Given the description of an element on the screen output the (x, y) to click on. 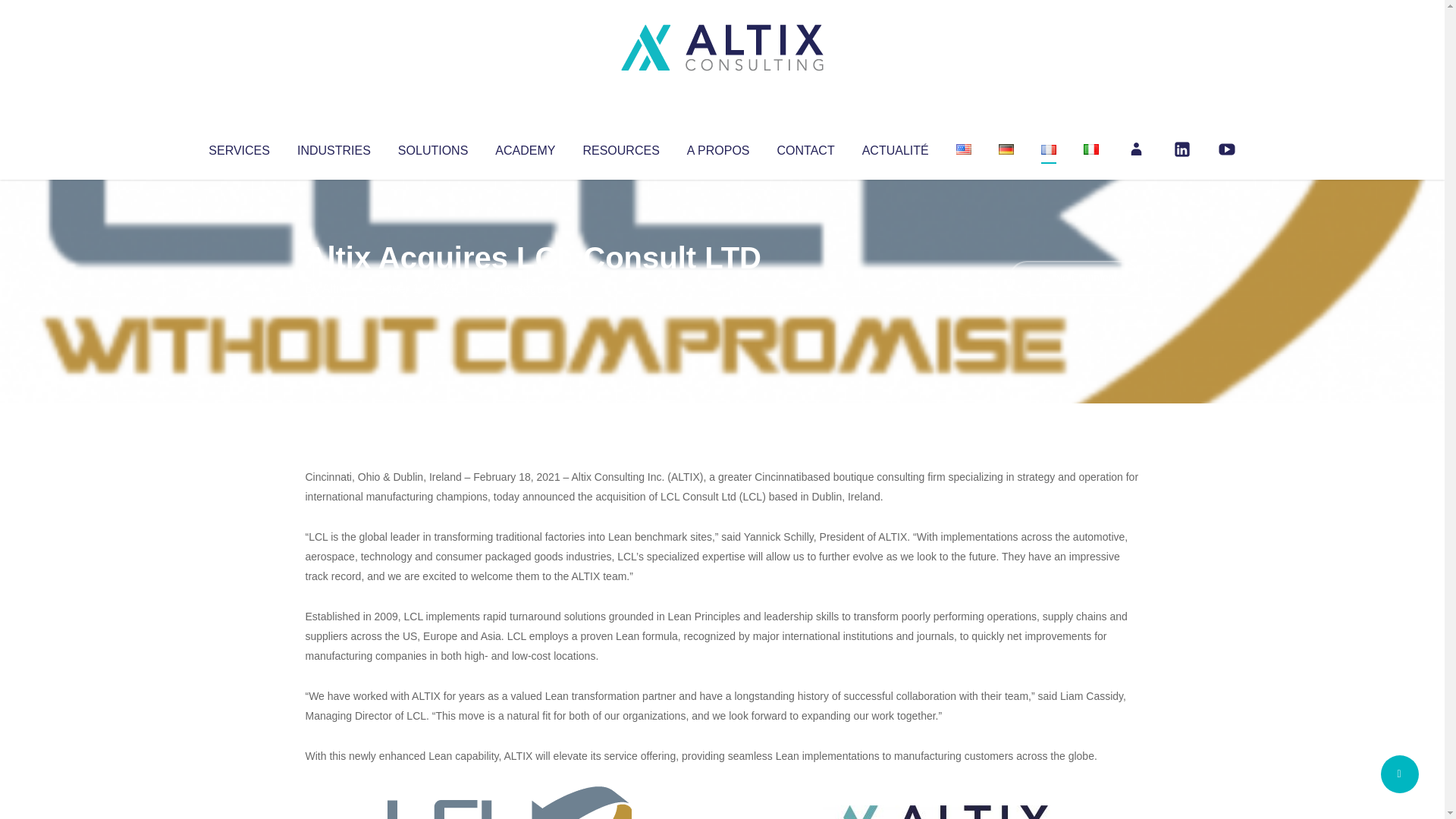
Articles par Altix (333, 287)
ACADEMY (524, 146)
Uncategorized (530, 287)
SERVICES (238, 146)
SOLUTIONS (432, 146)
A PROPOS (718, 146)
INDUSTRIES (334, 146)
Altix (333, 287)
RESOURCES (620, 146)
No Comments (1073, 278)
